Given the description of an element on the screen output the (x, y) to click on. 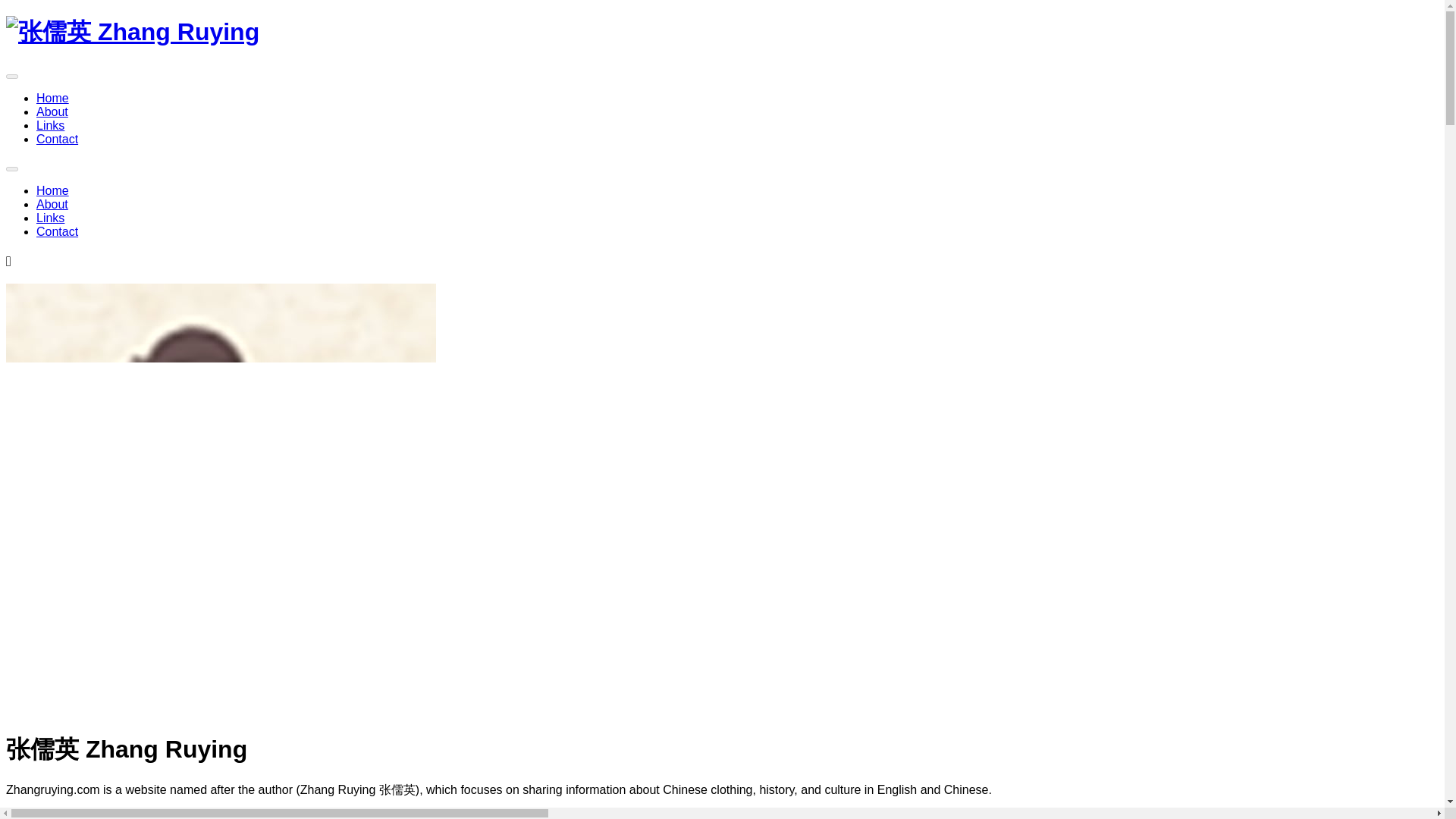
Links (50, 124)
Expand Menu (11, 76)
About (52, 111)
Contact (57, 231)
Skip to content (52, 190)
Links (52, 97)
About (50, 217)
